Given the description of an element on the screen output the (x, y) to click on. 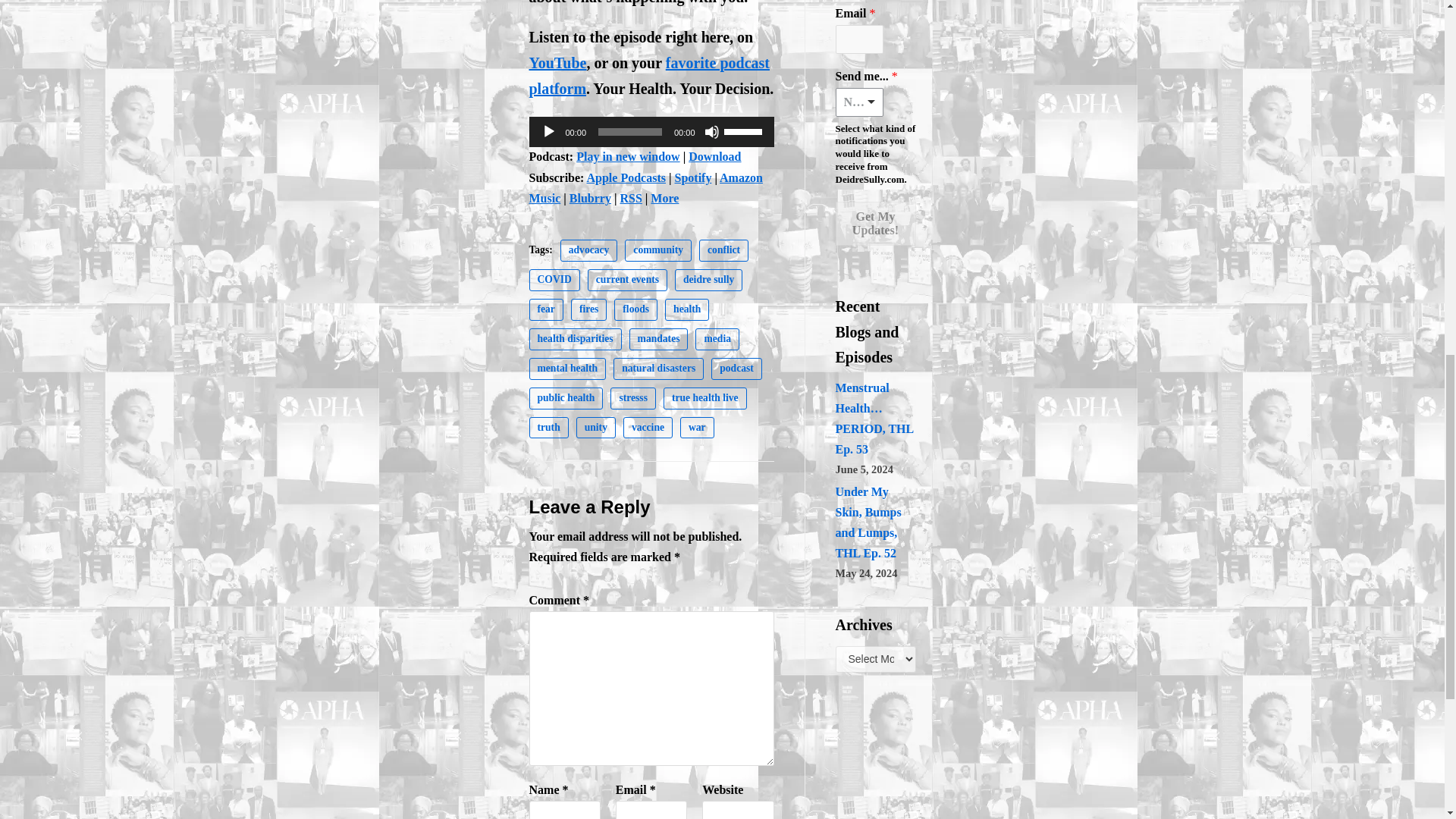
Download (714, 155)
conflict (723, 250)
Spotify (693, 177)
Play (548, 131)
Subscribe on Blubrry (590, 197)
RSS (631, 197)
Blubrry (590, 197)
Play in new window (627, 155)
YouTube (557, 62)
community (657, 250)
Amazon Music (645, 187)
favorite podcast platform (649, 75)
Mute (711, 131)
COVID (554, 280)
Subscribe on Apple Podcasts (625, 177)
